Given the description of an element on the screen output the (x, y) to click on. 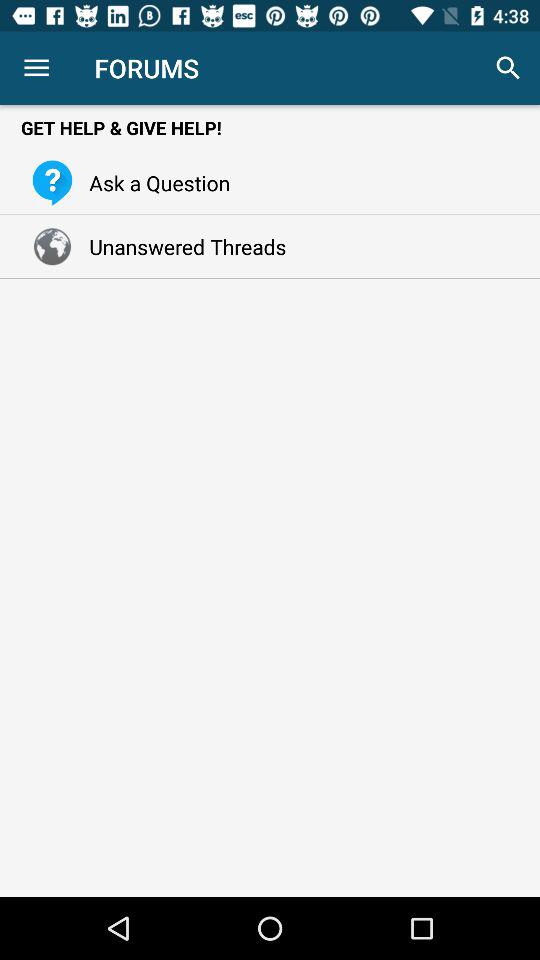
select the icon below the get help give (154, 182)
